Given the description of an element on the screen output the (x, y) to click on. 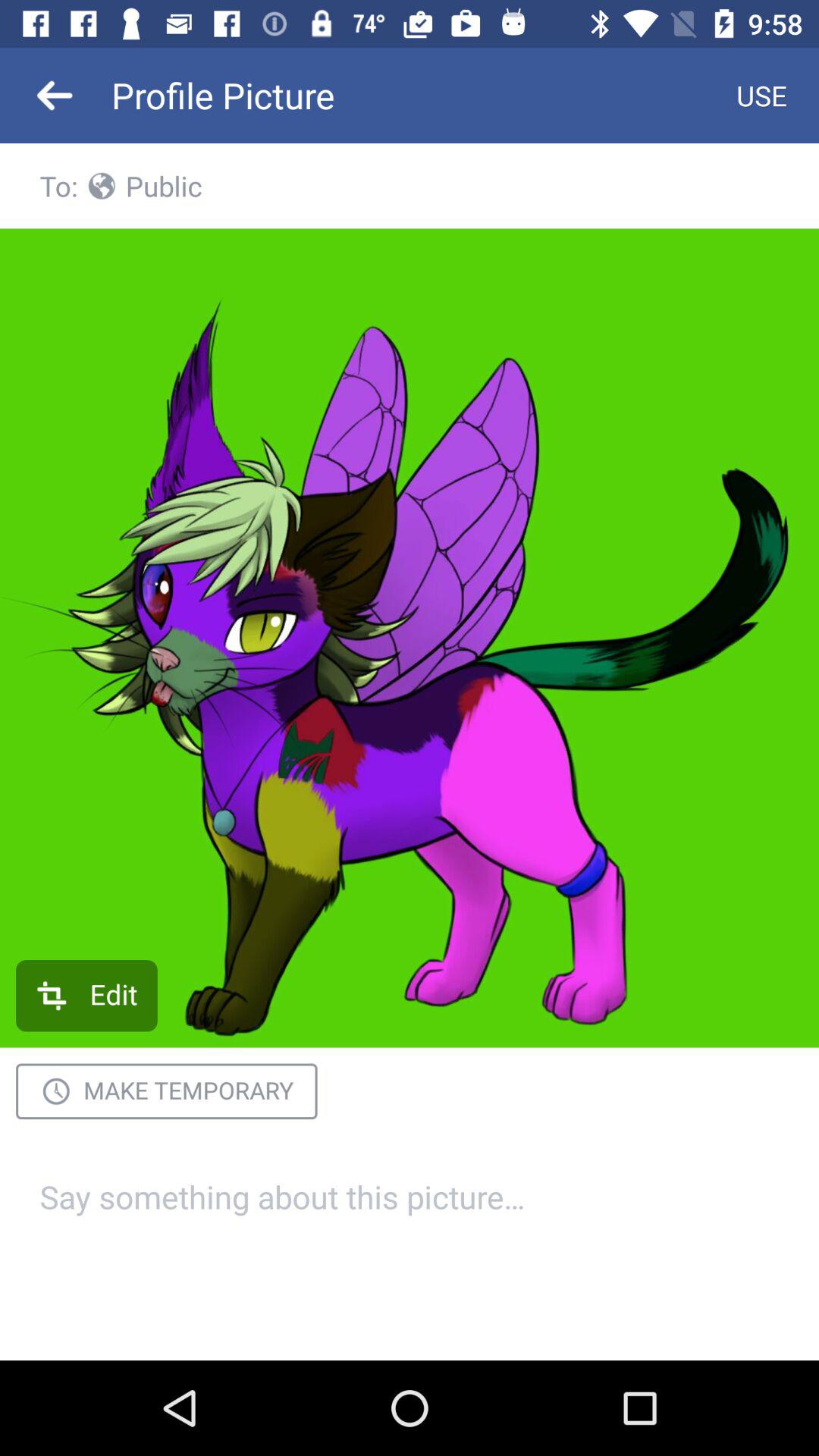
press item next to profile picture item (55, 95)
